Given the description of an element on the screen output the (x, y) to click on. 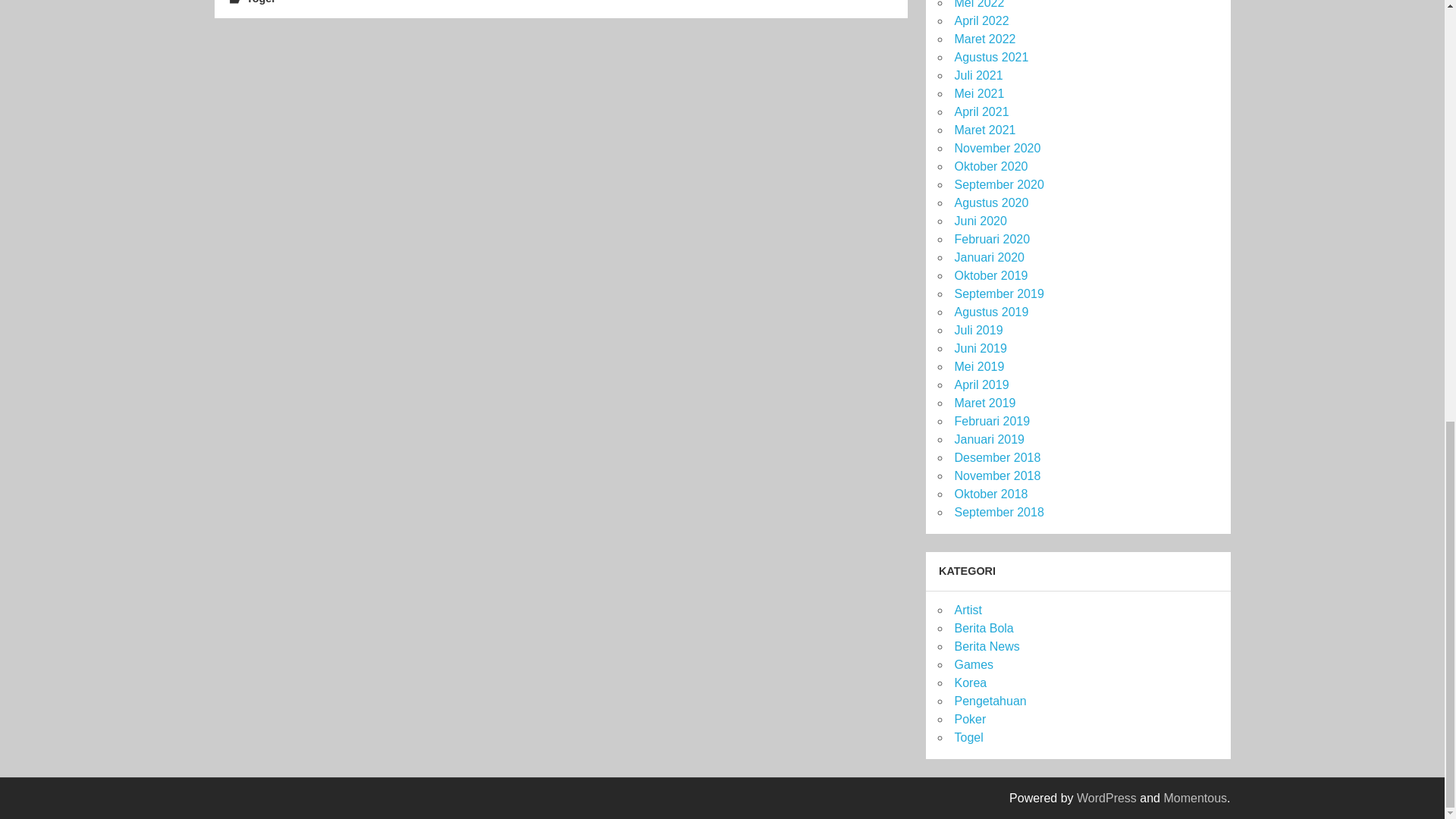
Togel (260, 2)
Momentous WordPress Theme (1195, 797)
WordPress (1107, 797)
